Given the description of an element on the screen output the (x, y) to click on. 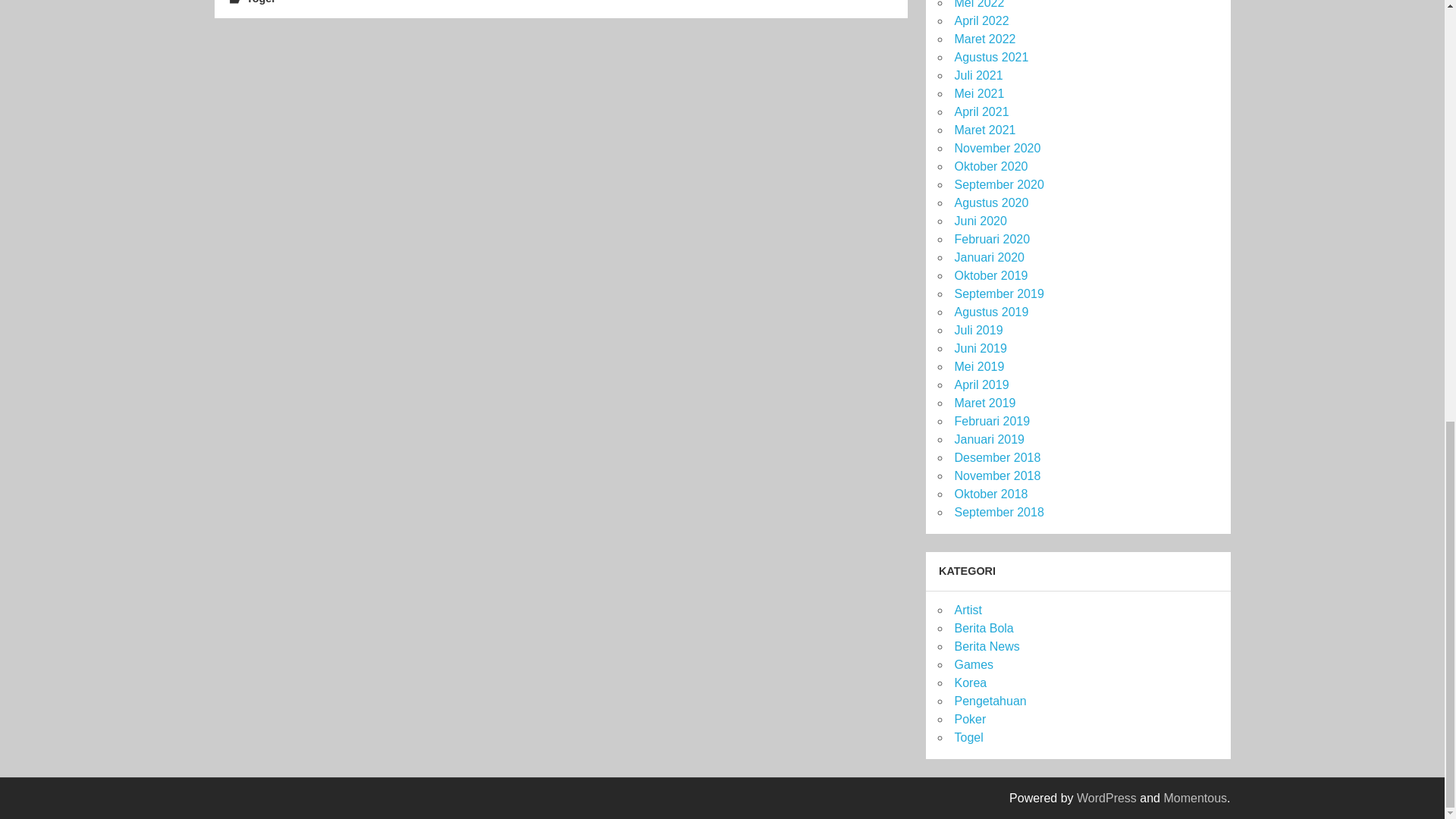
Togel (260, 2)
Momentous WordPress Theme (1195, 797)
WordPress (1107, 797)
